Given the description of an element on the screen output the (x, y) to click on. 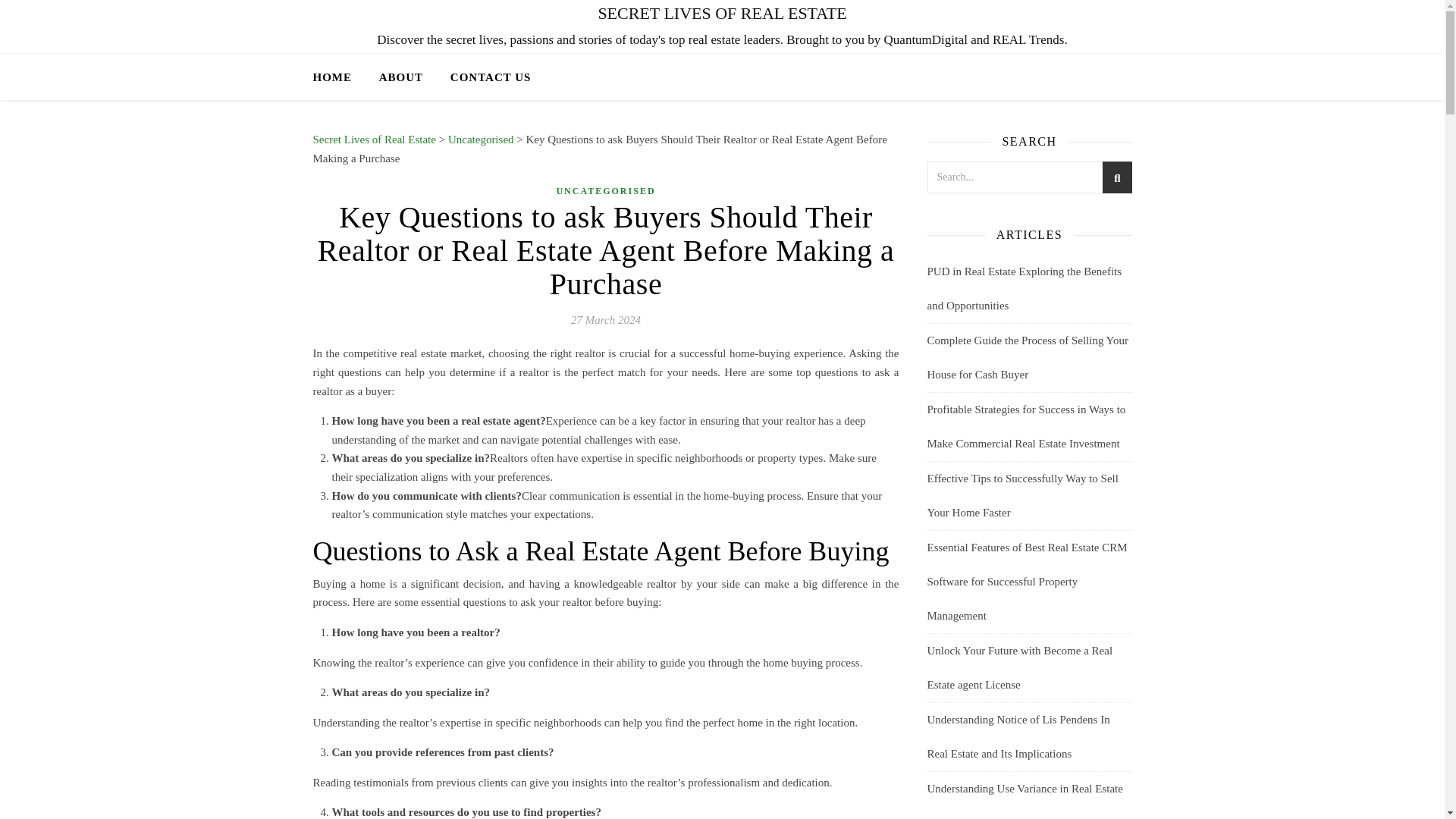
Secret Lives of Real Estate (374, 139)
SECRET LIVES OF REAL ESTATE (722, 13)
Go to the Uncategorised Category archives. (480, 139)
Effective Tips to Successfully Way to Sell Your Home Faster (1022, 495)
Uncategorised (480, 139)
CONTACT US (484, 76)
HOME (338, 76)
Go to Secret Lives of Real Estate. (374, 139)
ABOUT (400, 76)
Unlock Your Future with Become a Real Estate agent License (1019, 667)
